Given the description of an element on the screen output the (x, y) to click on. 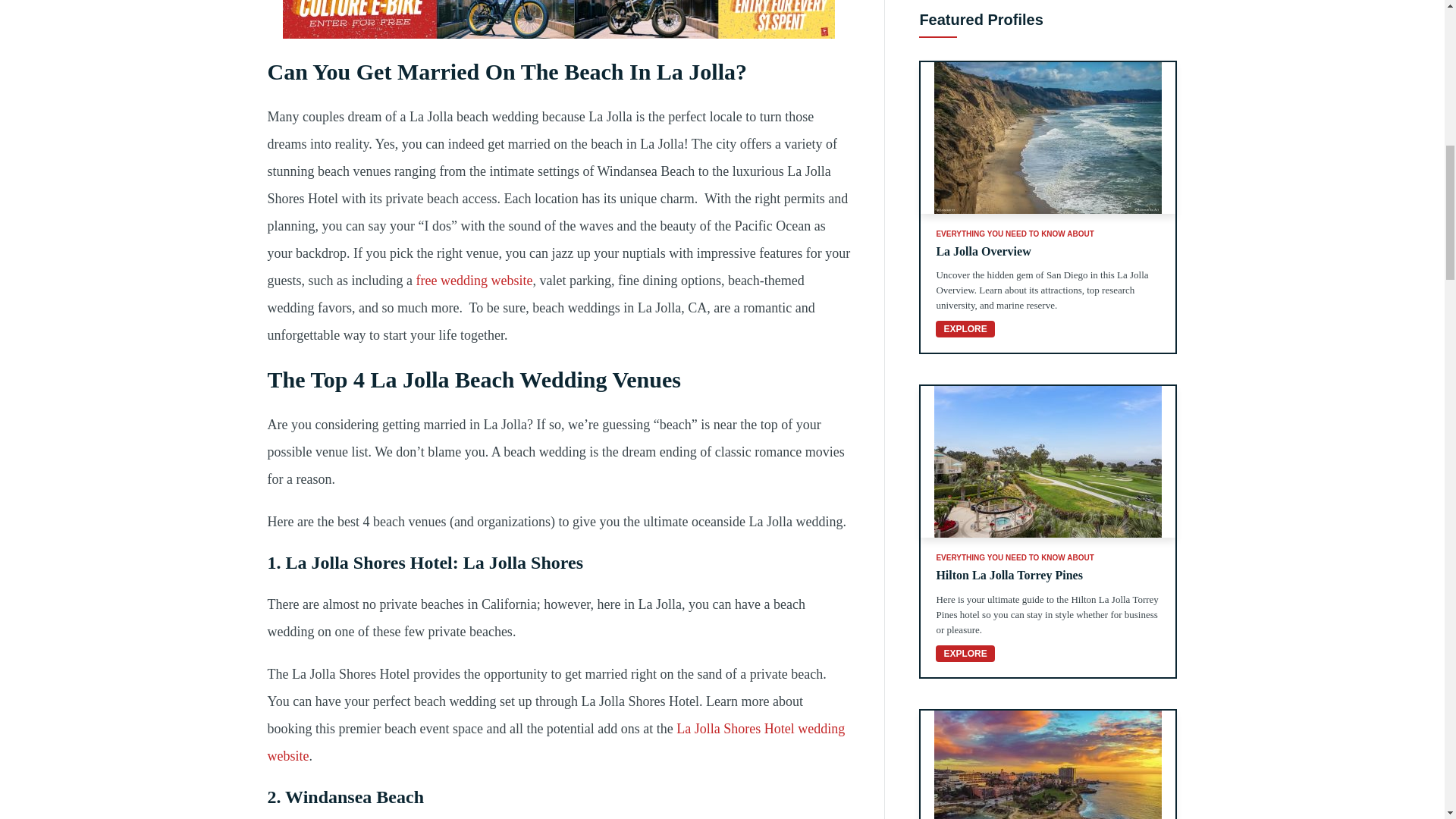
free wedding website (1047, 764)
La Jolla Shores Hotel wedding website (473, 280)
